Given the description of an element on the screen output the (x, y) to click on. 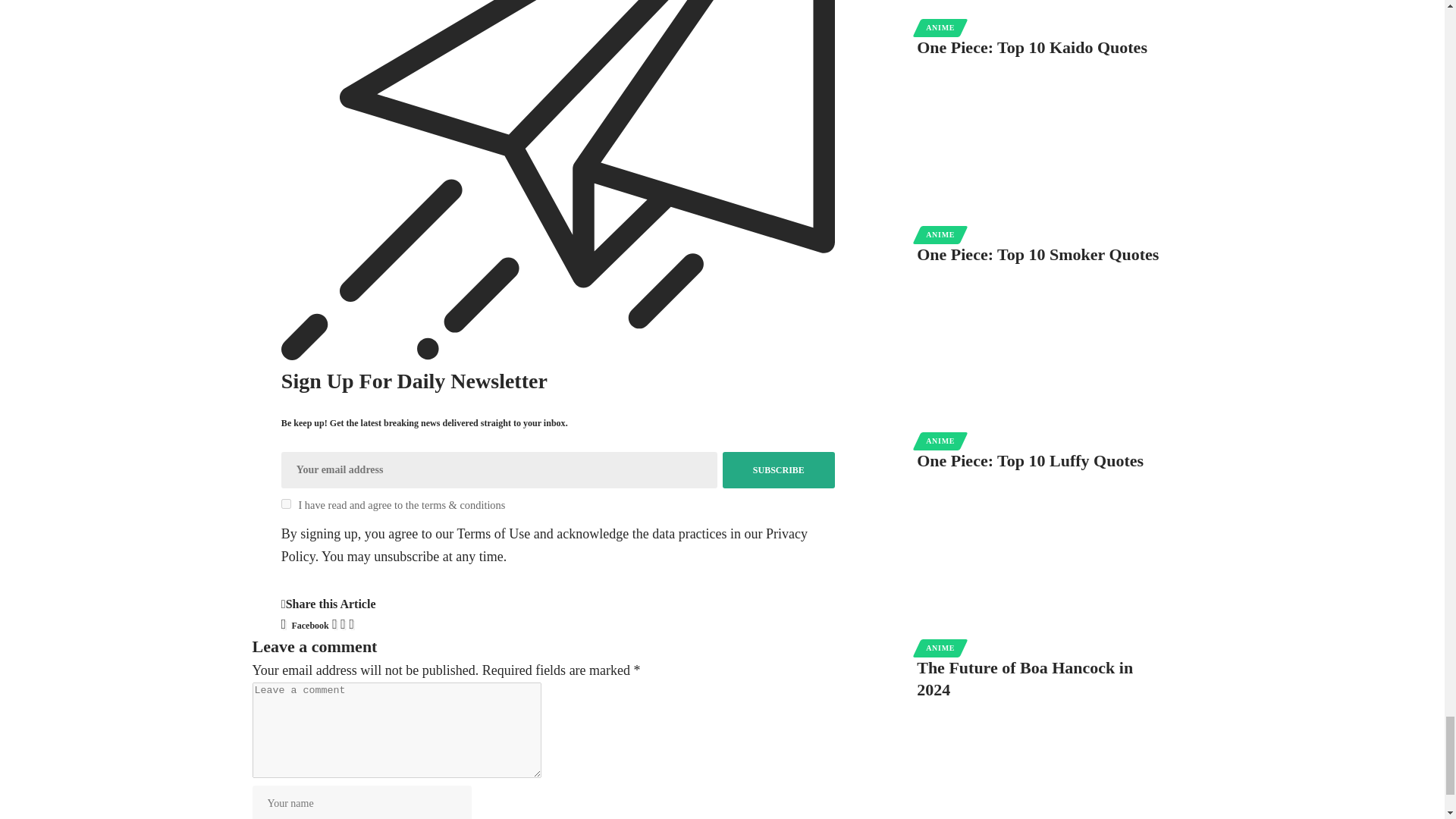
SUBSCRIBE (778, 470)
1 (286, 503)
